Given the description of an element on the screen output the (x, y) to click on. 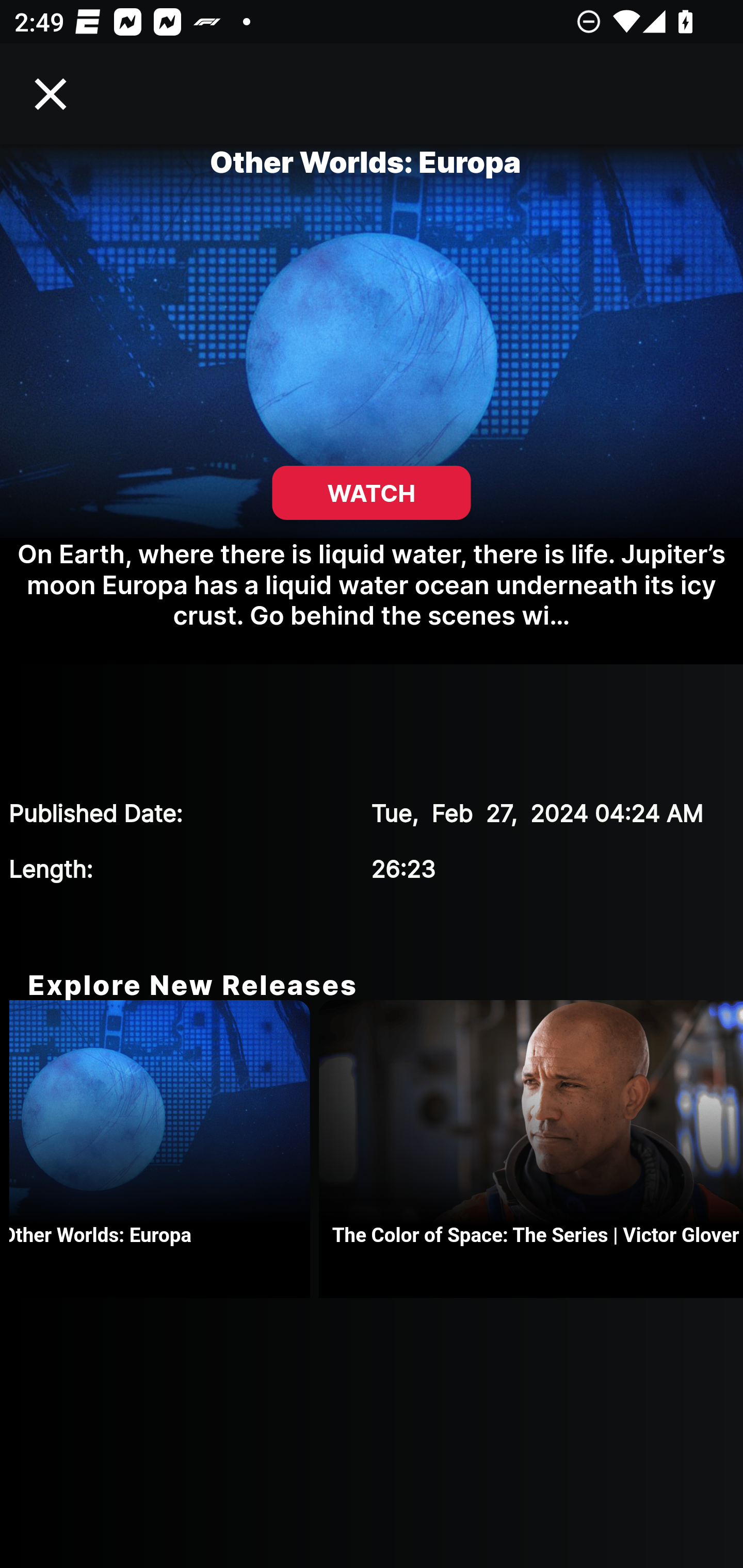
WATCH (371, 492)
Other Worlds: Europa (163, 1149)
The Color of Space: The Series | Victor Glover (530, 1149)
